Given the description of an element on the screen output the (x, y) to click on. 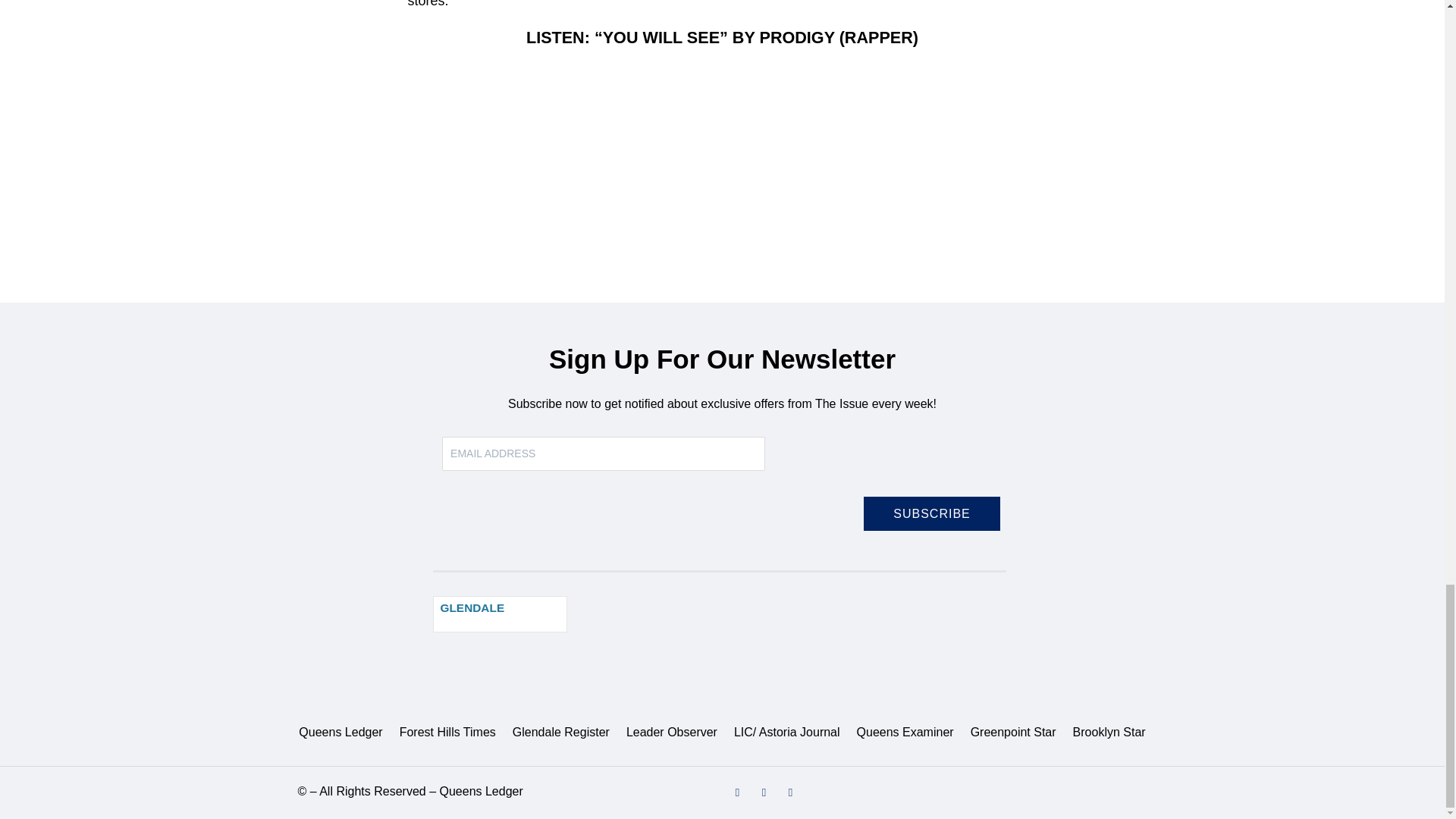
GLENDALE (471, 607)
Subscribe (931, 513)
GLENDALE (500, 614)
